Given the description of an element on the screen output the (x, y) to click on. 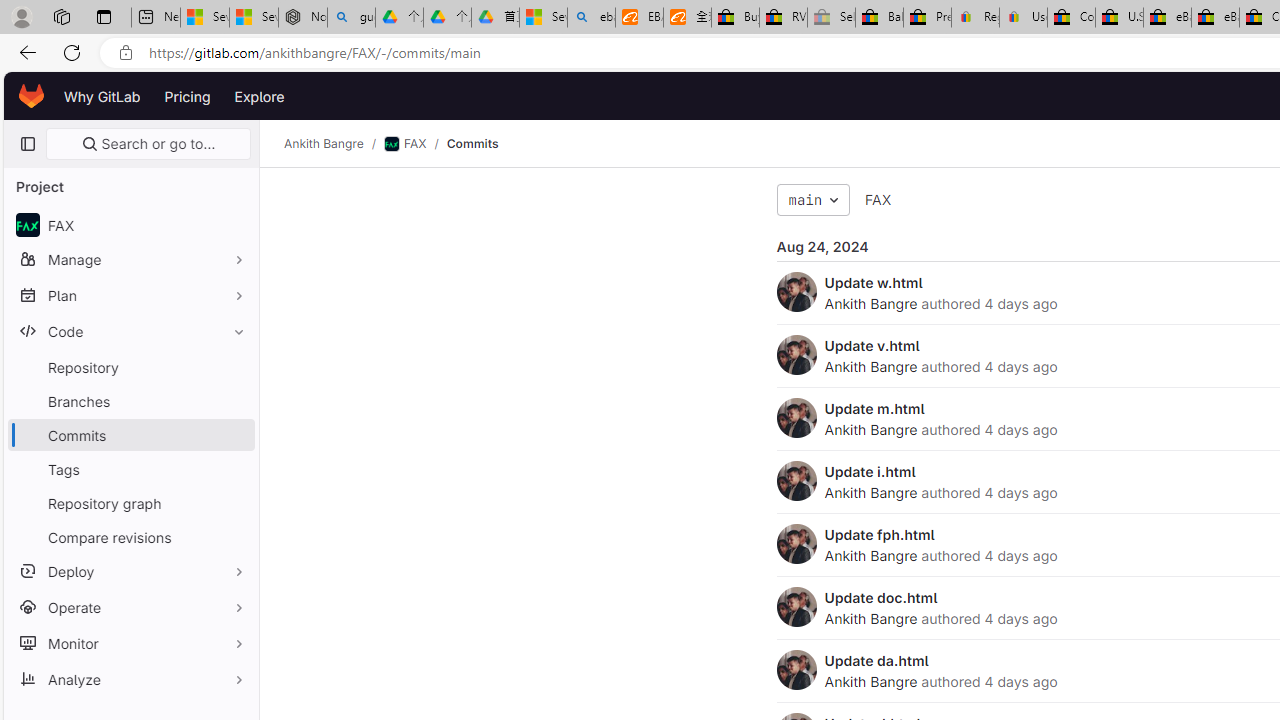
main (813, 200)
Deploy (130, 570)
Pricing (187, 95)
Ankith Bangre's avatar (795, 669)
Plan (130, 295)
Register: Create a personal eBay account (975, 17)
Branches (130, 400)
Explore (259, 95)
Commits (472, 143)
Repository graph (130, 502)
Tags (130, 468)
